Given the description of an element on the screen output the (x, y) to click on. 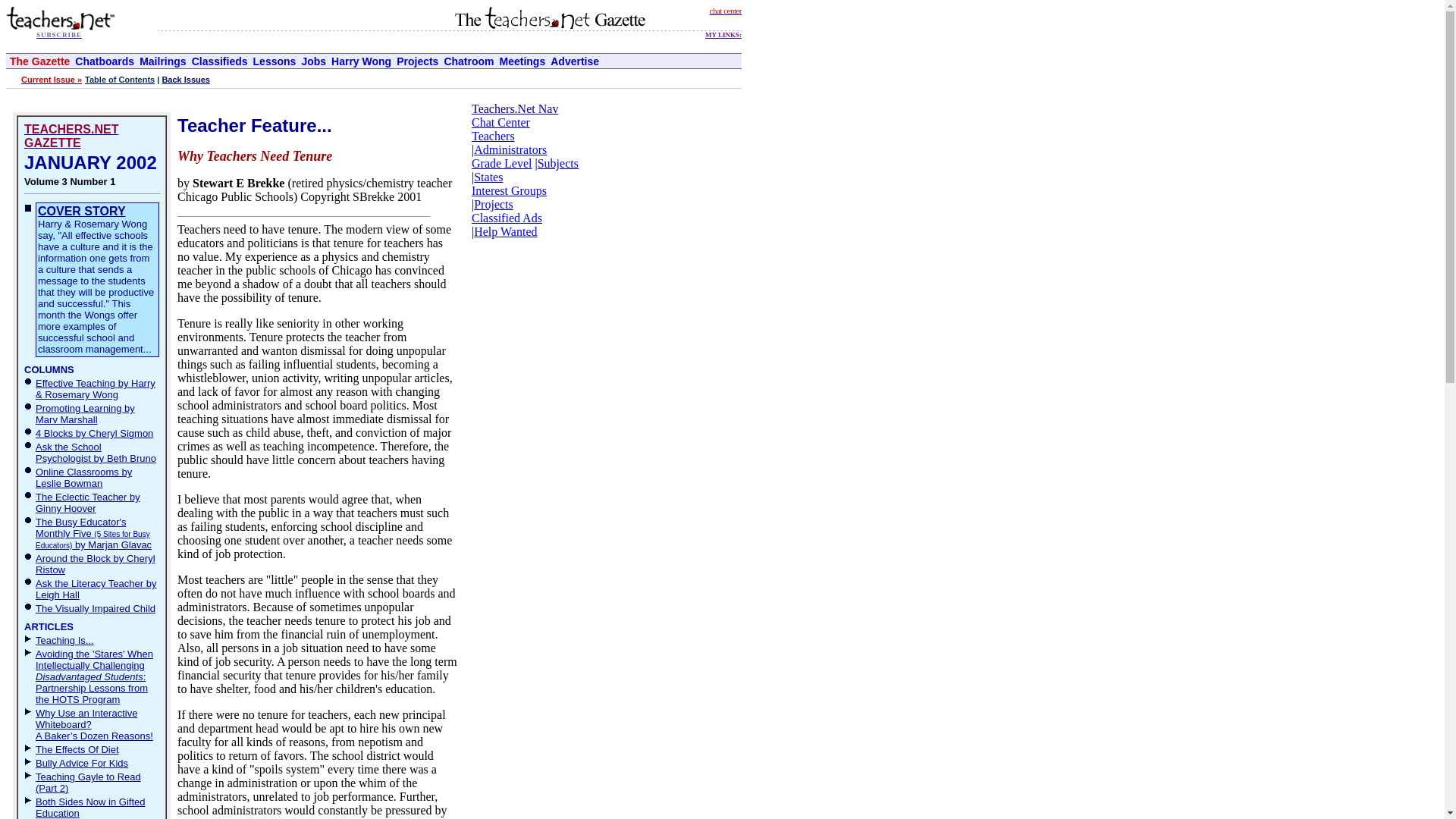
MY LINKS: (722, 32)
Lessons (274, 61)
SUBSCRIBE (58, 33)
Mailrings (161, 61)
The Gazette (39, 61)
Classifieds (219, 61)
chat center (725, 9)
Chatboards (104, 61)
